Given the description of an element on the screen output the (x, y) to click on. 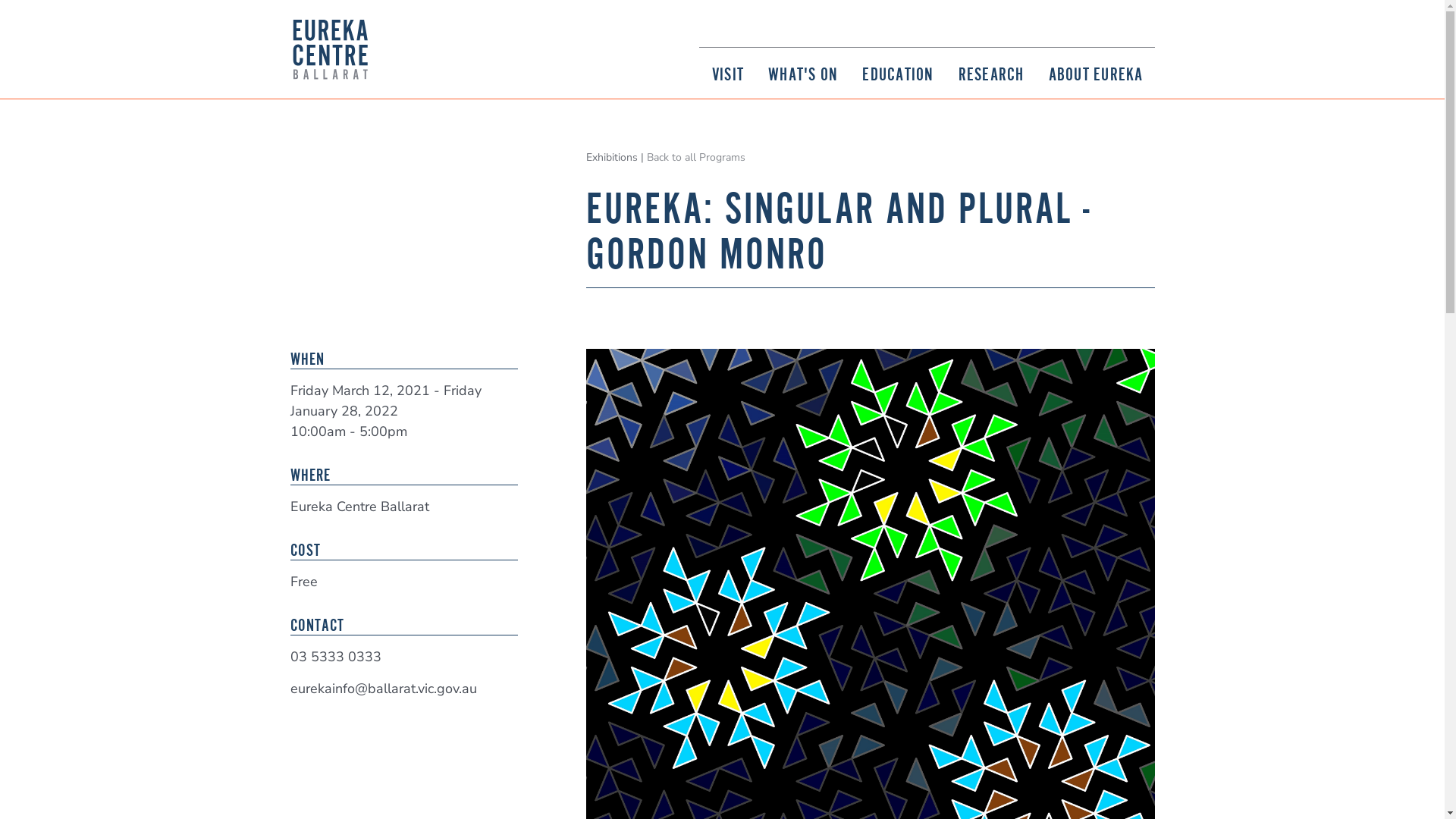
Back to all Programs Element type: text (695, 157)
WHAT'S ON Element type: text (802, 72)
EDUCATION Element type: text (896, 72)
VISIT Element type: text (727, 72)
Home page Element type: hover (329, 48)
ABOUT EUREKA Element type: text (1094, 72)
RESEARCH Element type: text (989, 72)
Skip to main content Element type: text (721, 1)
